Given the description of an element on the screen output the (x, y) to click on. 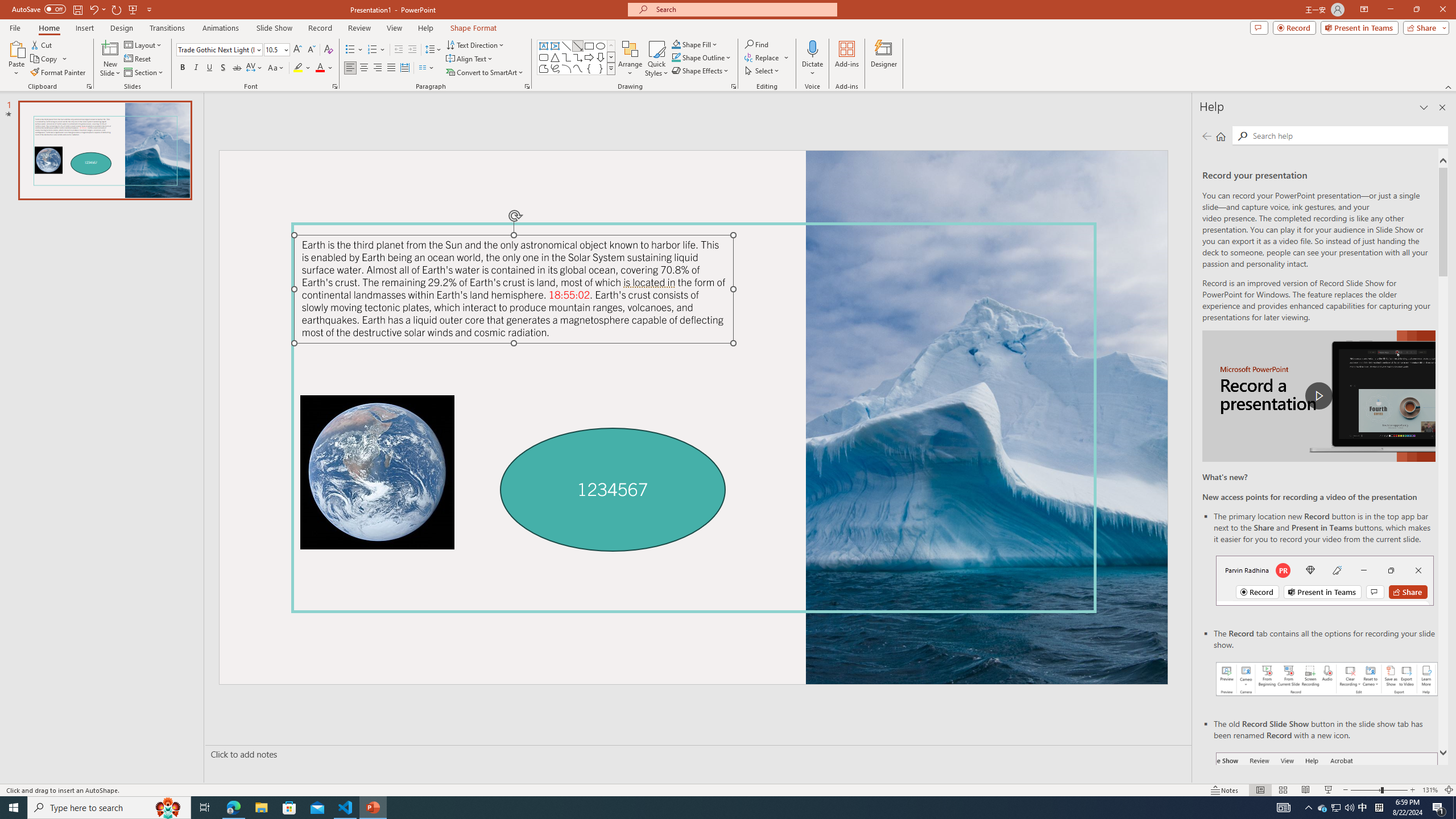
Previous page (1206, 136)
